Given the description of an element on the screen output the (x, y) to click on. 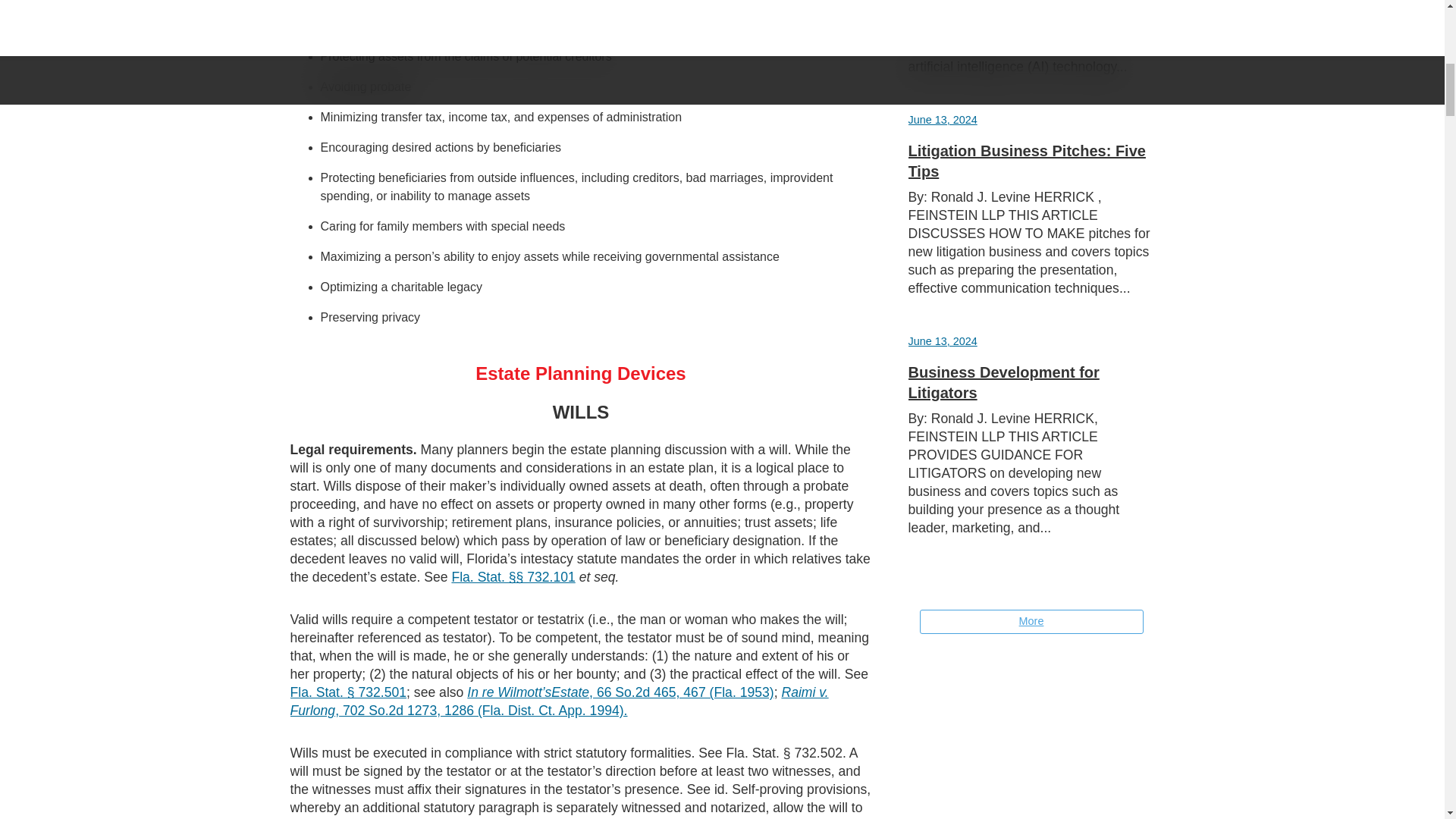
June 13, 2024 (942, 119)
Business Development for Litigators (1003, 382)
Litigation Business Pitches: Five Tips (1026, 160)
More (1030, 621)
June 13, 2024 (942, 340)
